Given the description of an element on the screen output the (x, y) to click on. 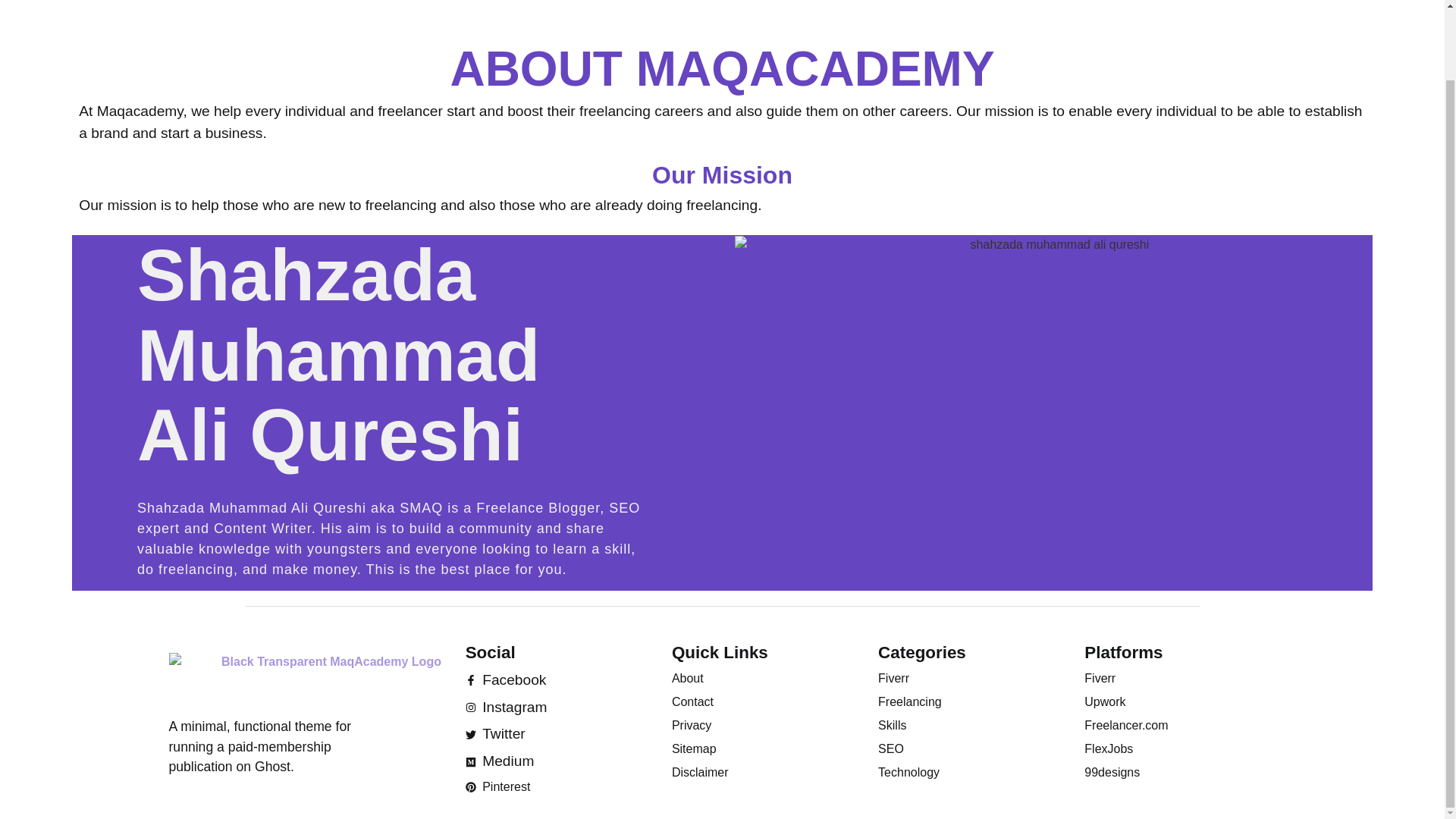
FlexJobs (1176, 749)
Upwork (1176, 701)
Skills (969, 725)
Disclaimer (763, 772)
SEO (969, 749)
Pinterest (557, 787)
Contact (763, 701)
Technology (969, 772)
Fiverr (1176, 678)
Freelancer.com (1176, 725)
